Given the description of an element on the screen output the (x, y) to click on. 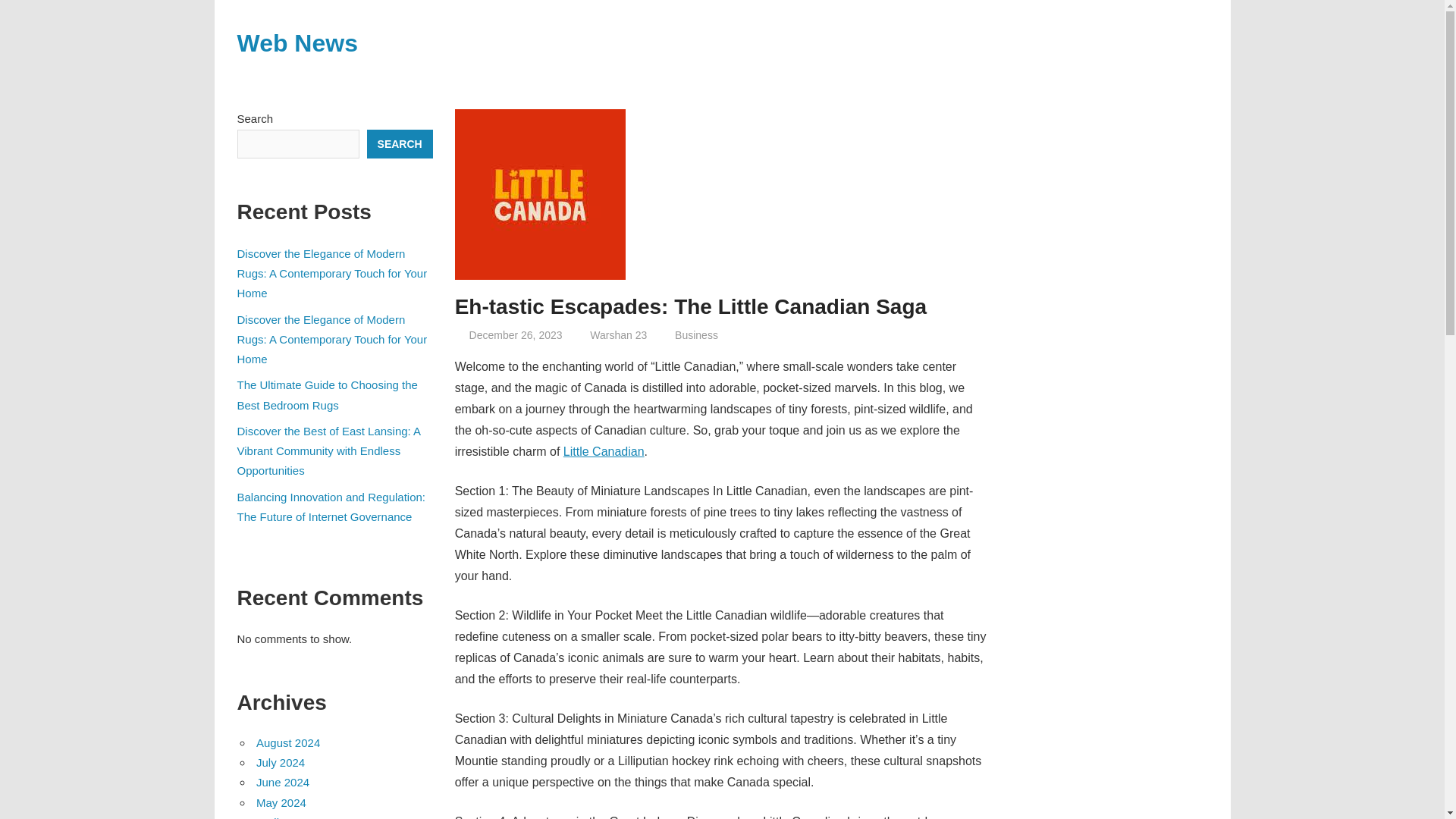
May 2024 (280, 802)
June 2024 (282, 781)
Business (696, 335)
6:04 am (515, 335)
Web News (295, 42)
View all posts by Warshan 23 (617, 335)
